Given the description of an element on the screen output the (x, y) to click on. 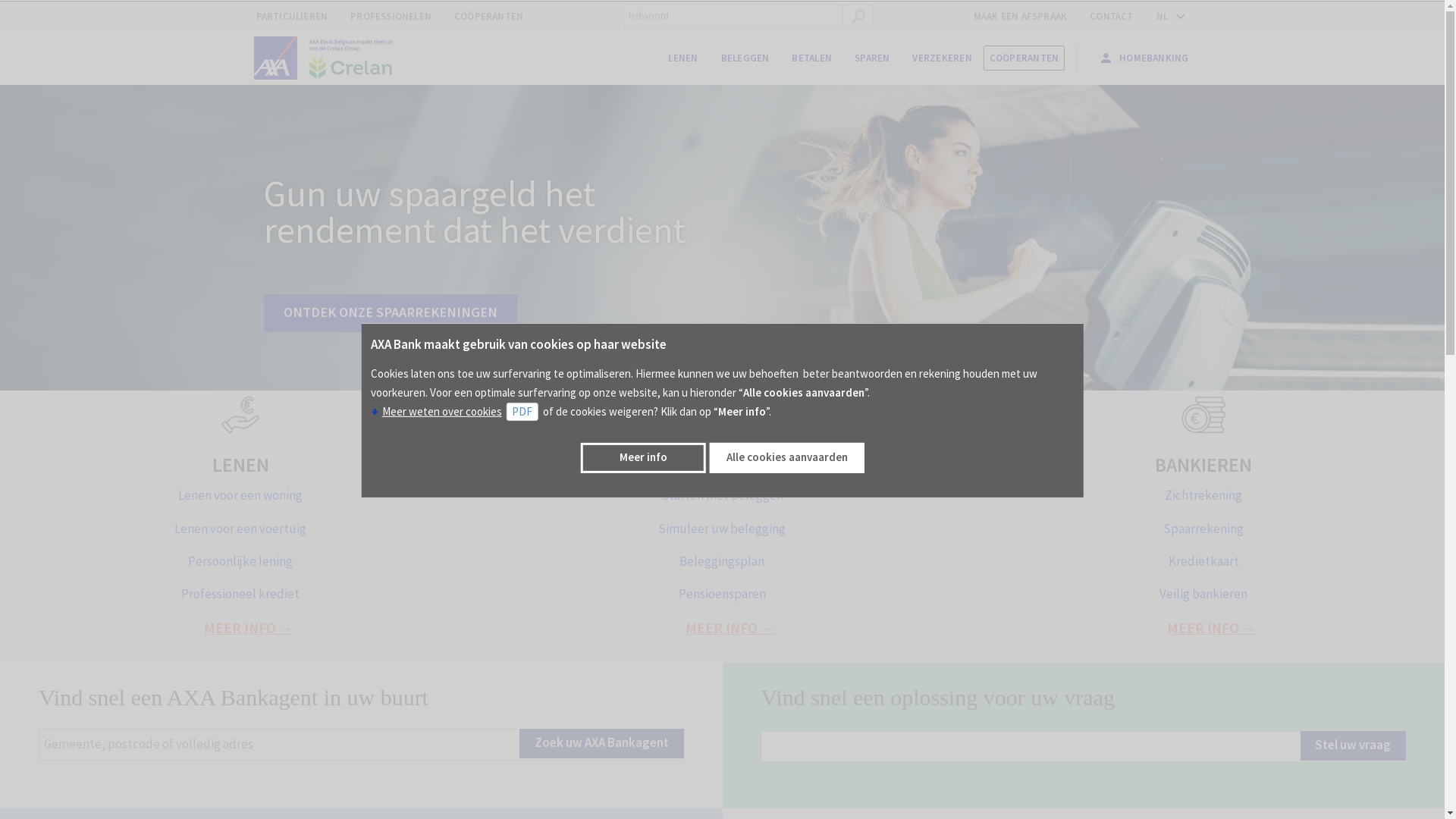
Beleggingsplan Element type: text (721, 560)
Zoek Element type: text (858, 16)
Meer weten over cookiesPDF Element type: text (455, 410)
CONTACT Element type: text (1111, 16)
Veilig bankieren Element type: text (1203, 593)
Simuleer uw belegging Element type: text (721, 528)
NL Element type: text (1167, 16)
Zoek uw AXA Bankagent Element type: text (601, 743)
VERZEKEREN Element type: text (941, 57)
MAAK EEN AFSPRAAK Element type: text (1020, 16)
BANKIEREN Element type: text (1203, 464)
LENEN Element type: text (682, 57)
Stel uw vraag Element type: text (1352, 745)
HOMEBANKING Element type: text (1143, 57)
SPAREN Element type: text (871, 57)
PROFESSIONELEN Element type: text (390, 16)
Kredietkaart Element type: text (1203, 560)
ONTDEK ONZE SPAARREKENINGEN Element type: text (390, 313)
Meer info Element type: text (643, 457)
PARTICULIEREN Element type: text (291, 16)
Starten met beleggen Element type: text (722, 494)
Spaarrekening Element type: text (1203, 528)
BELEGGEN Element type: text (745, 57)
Lenen voor een woning Element type: text (240, 494)
LENEN Element type: text (240, 464)
Persoonlijke lening Element type: text (240, 560)
BELEGGEN Element type: text (722, 464)
Alle cookies aanvaarden Element type: text (786, 457)
AXA Bank Element type: text (329, 57)
BETALEN Element type: text (811, 57)
Pensioensparen Element type: text (721, 593)
Professioneel krediet Element type: text (240, 593)
Lenen voor een voertuig Element type: text (240, 528)
Zichtrekening Element type: text (1203, 494)
